Given the description of an element on the screen output the (x, y) to click on. 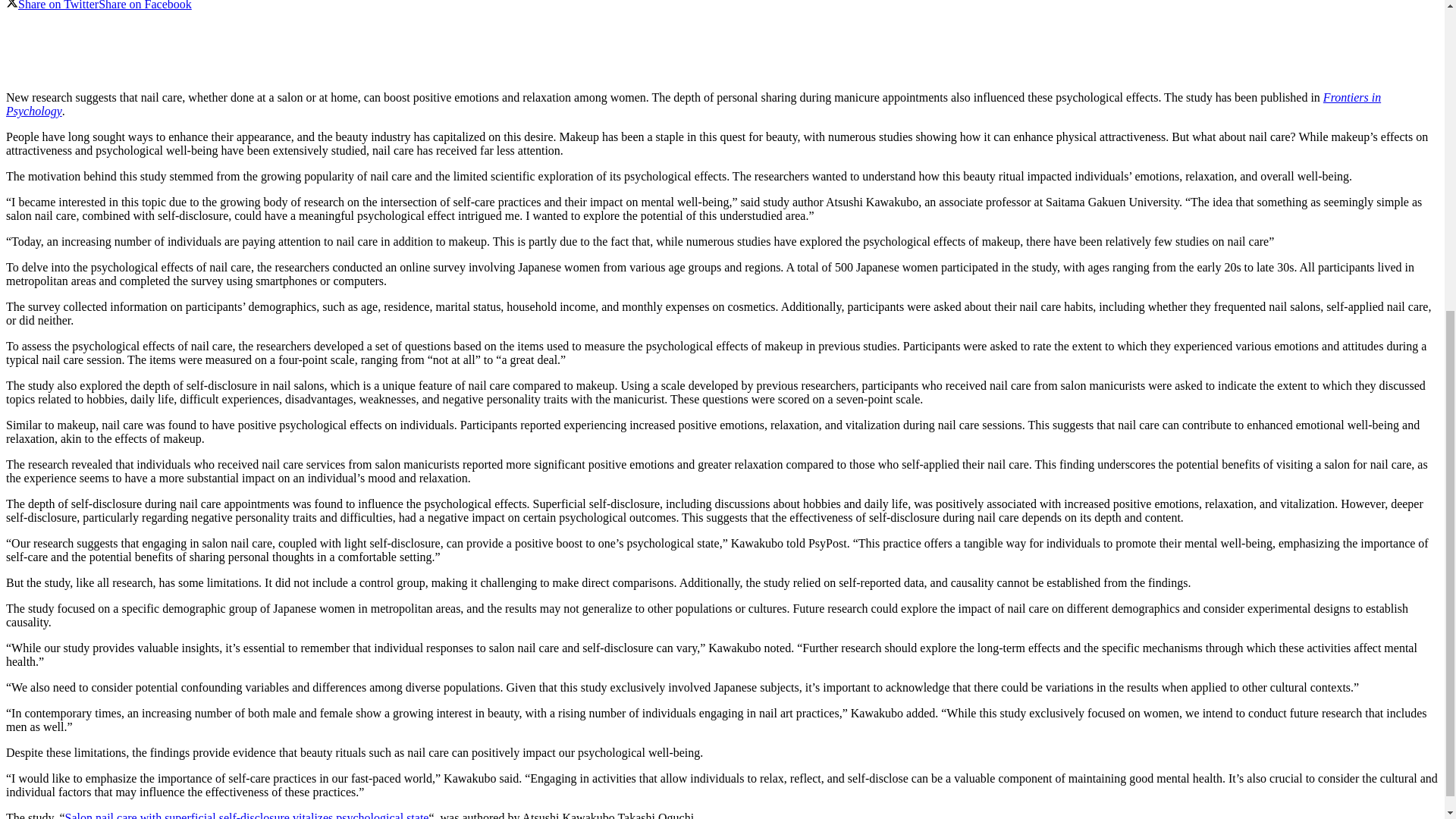
Share on Facebook (145, 5)
Frontiers in Psychology (692, 103)
Share on Twitter (52, 5)
